Given the description of an element on the screen output the (x, y) to click on. 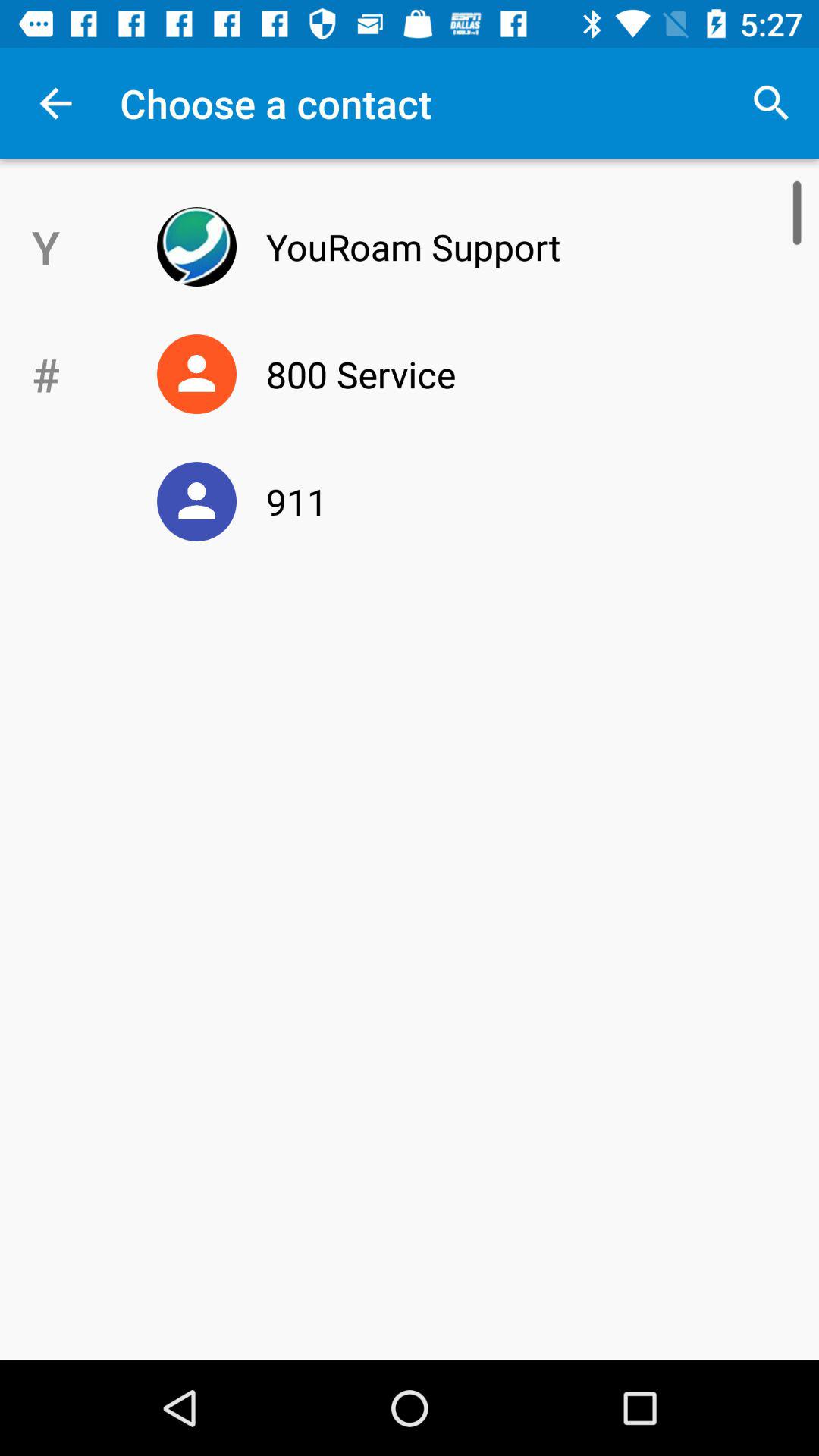
press the item above youroam support icon (771, 103)
